Given the description of an element on the screen output the (x, y) to click on. 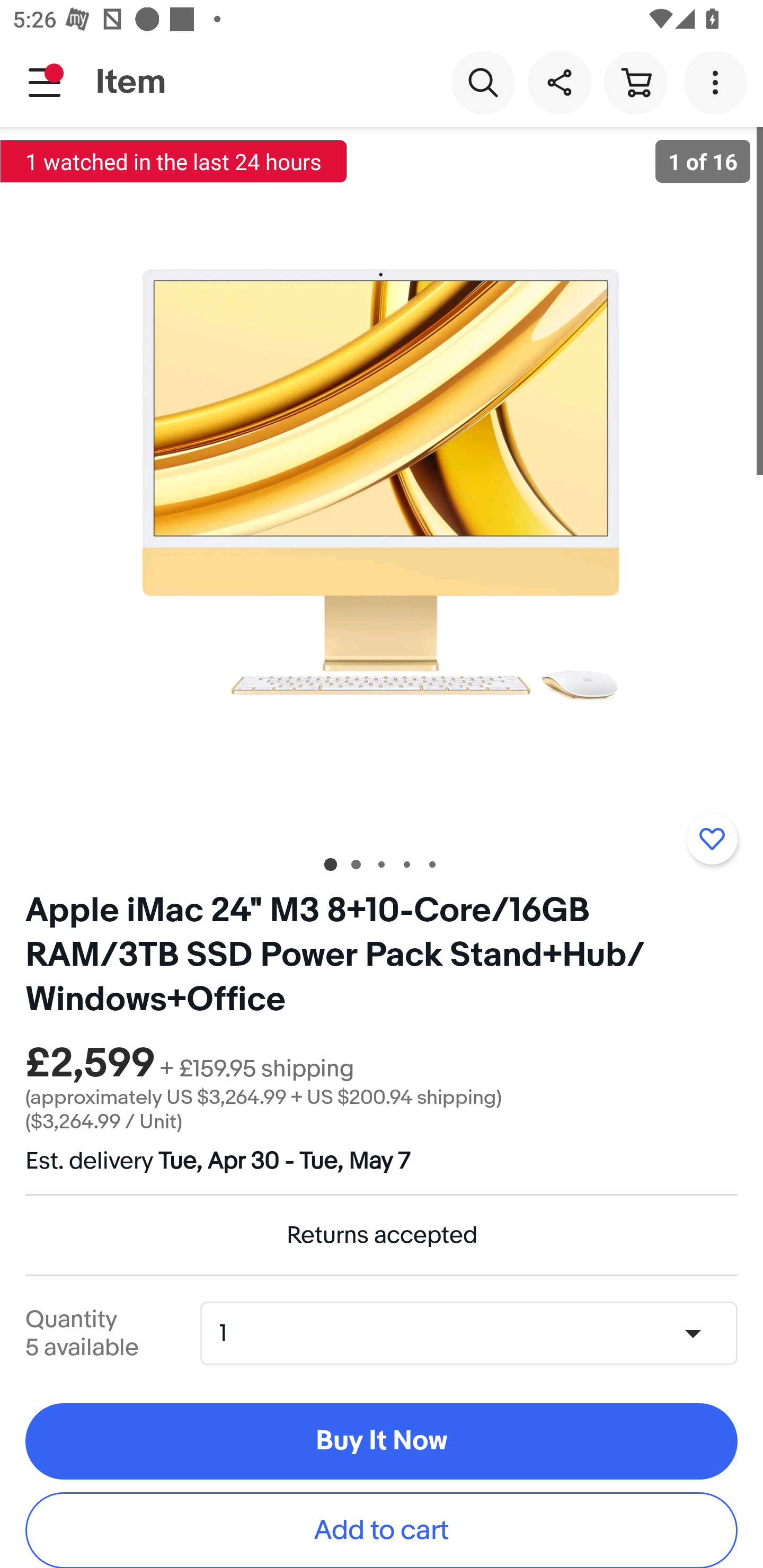
Main navigation, notification is pending, open (44, 82)
Search (482, 81)
Share this item (559, 81)
Cart button shopping cart (635, 81)
More options (718, 81)
Item image 1 of 16 (381, 482)
1 watched in the last 24 hours (173, 161)
Add to watchlist (711, 838)
Quantity,1,5 available 1 (474, 1332)
Buy It Now (381, 1441)
Add to cart (381, 1530)
